Given the description of an element on the screen output the (x, y) to click on. 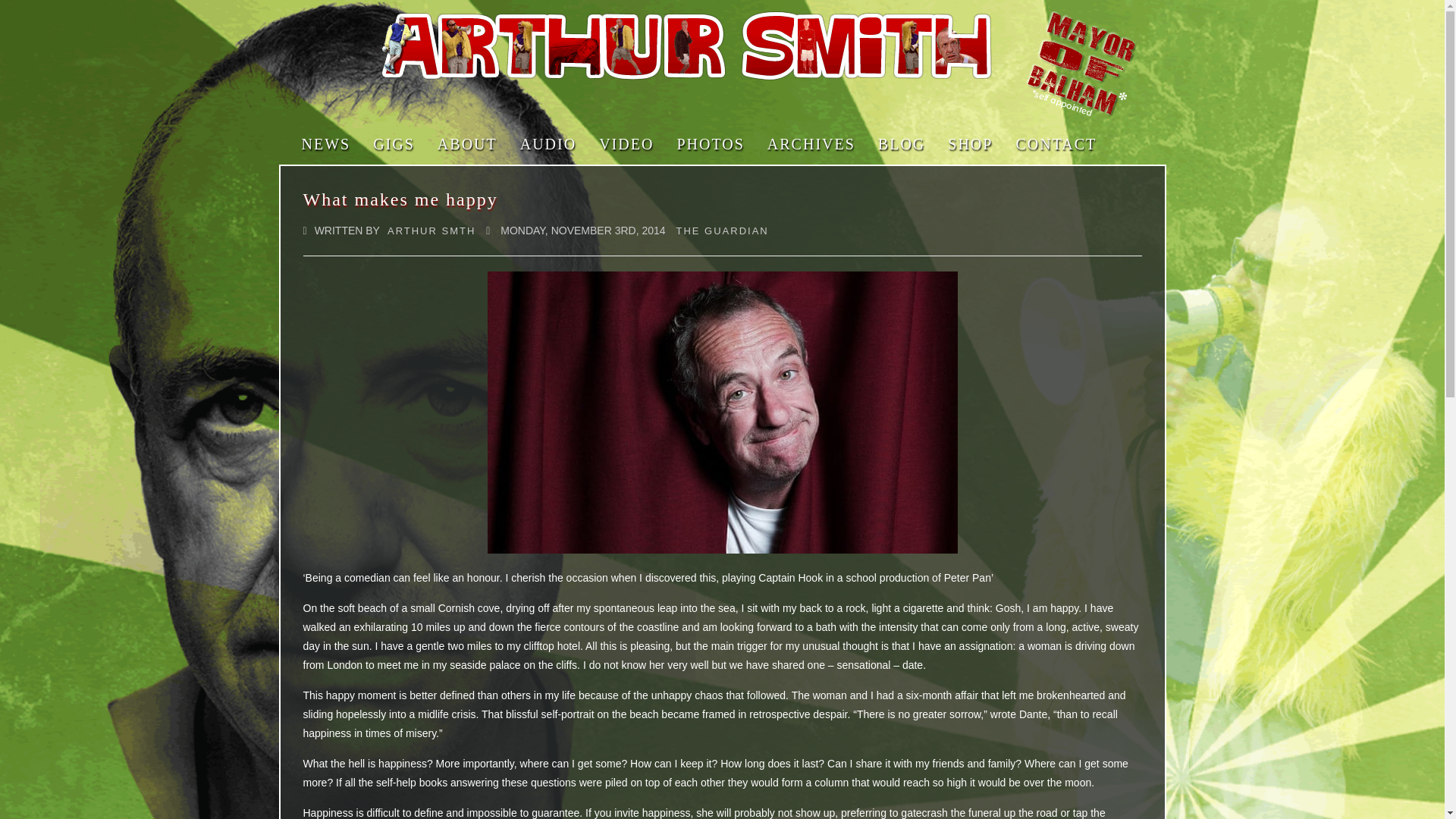
NEWS (325, 144)
ARTHUR SMTH (431, 230)
SHOP (969, 144)
Blog (900, 144)
Contact (1055, 144)
Audio (547, 144)
VIDEO (625, 144)
Video (625, 144)
ARCHIVES (811, 144)
Photos (710, 144)
Arthur Smith - Night Mayor Of Balham. Self Appointed. (1081, 64)
Gigs (393, 144)
Archives (811, 144)
About (467, 144)
BLOG (900, 144)
